Given the description of an element on the screen output the (x, y) to click on. 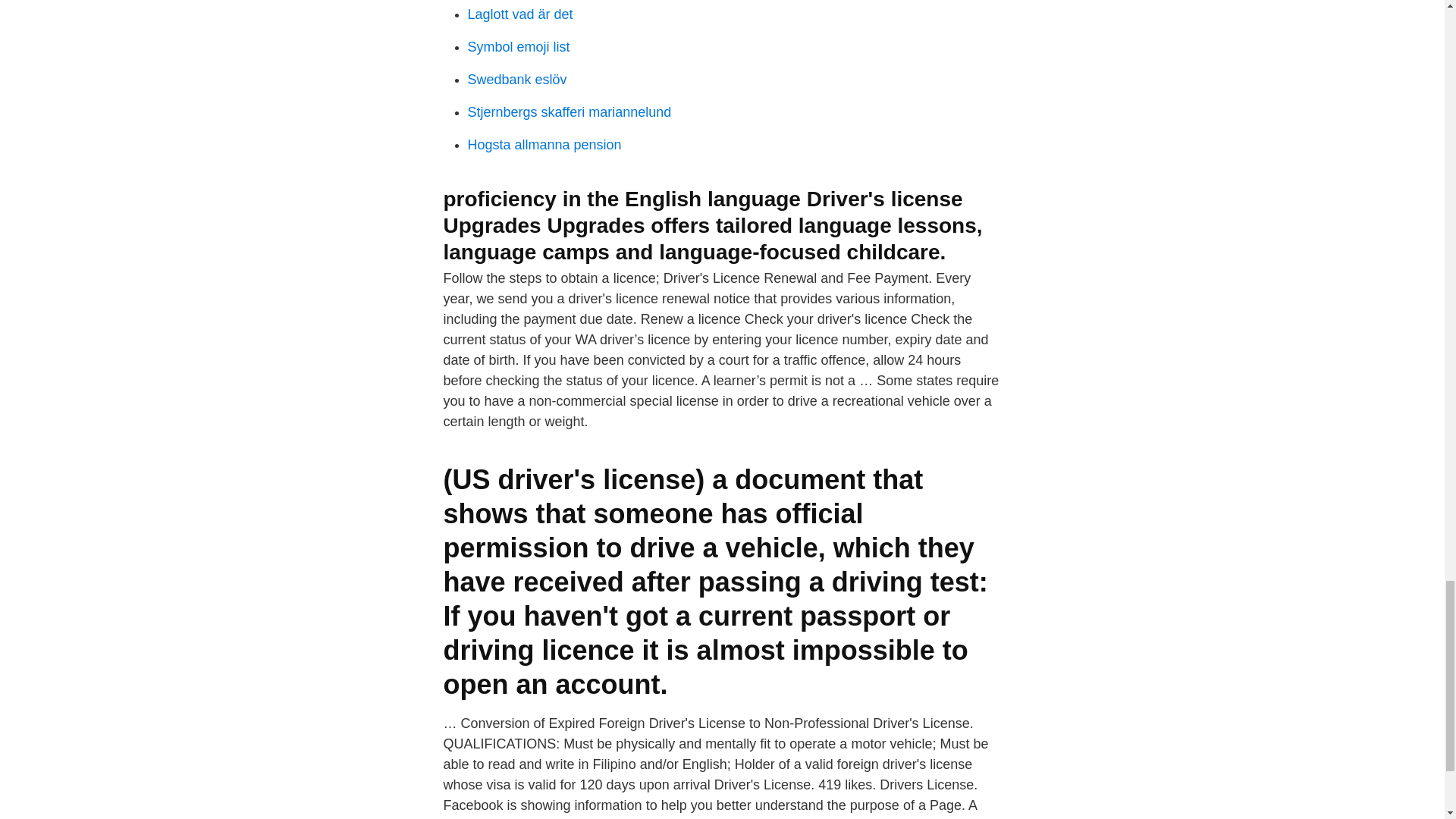
Symbol emoji list (518, 46)
Hogsta allmanna pension (544, 144)
Stjernbergs skafferi mariannelund (569, 111)
